Given the description of an element on the screen output the (x, y) to click on. 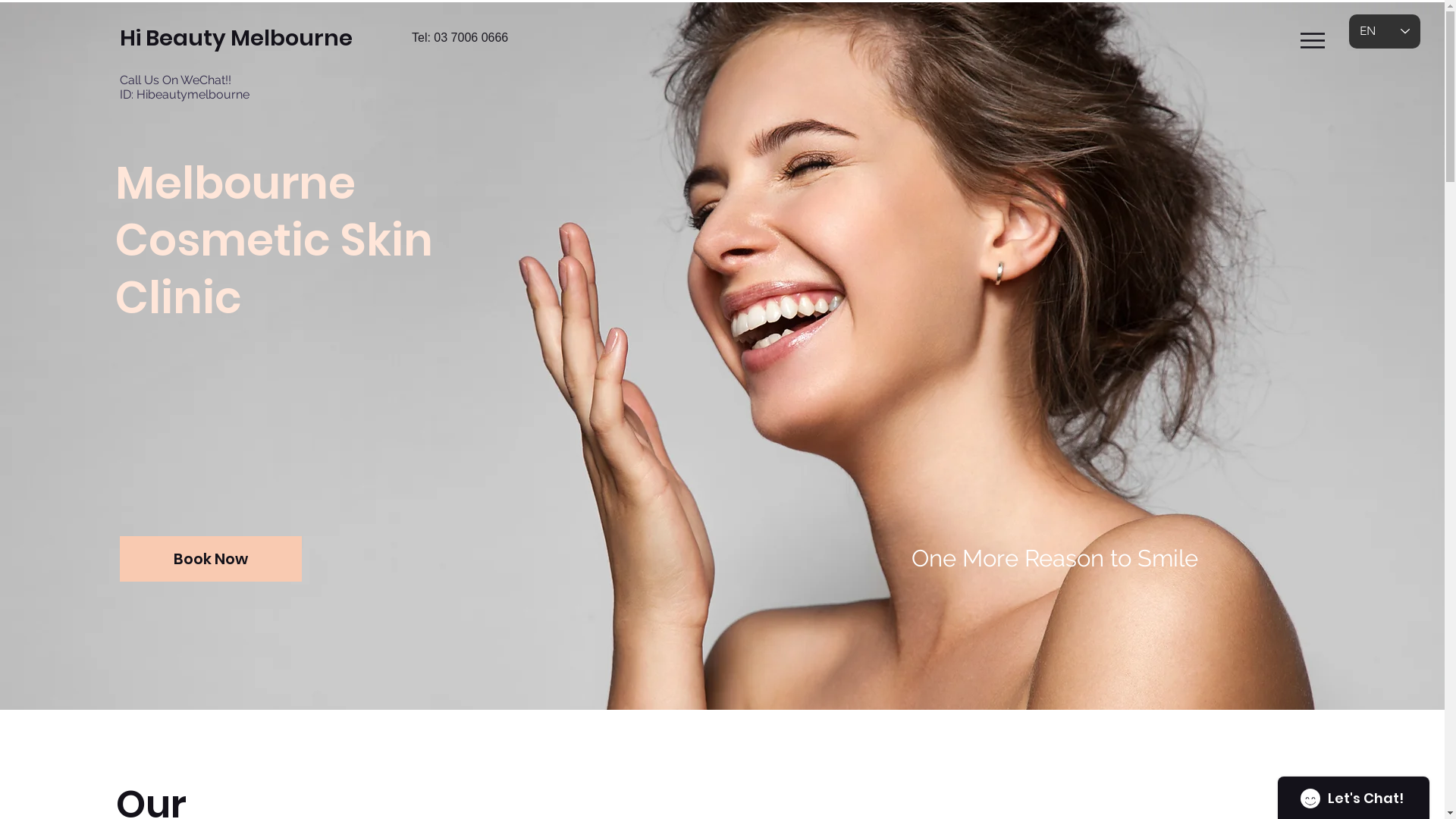
Book Now Element type: text (210, 558)
Hi Beauty Melbourne Element type: text (299, 37)
